Given the description of an element on the screen output the (x, y) to click on. 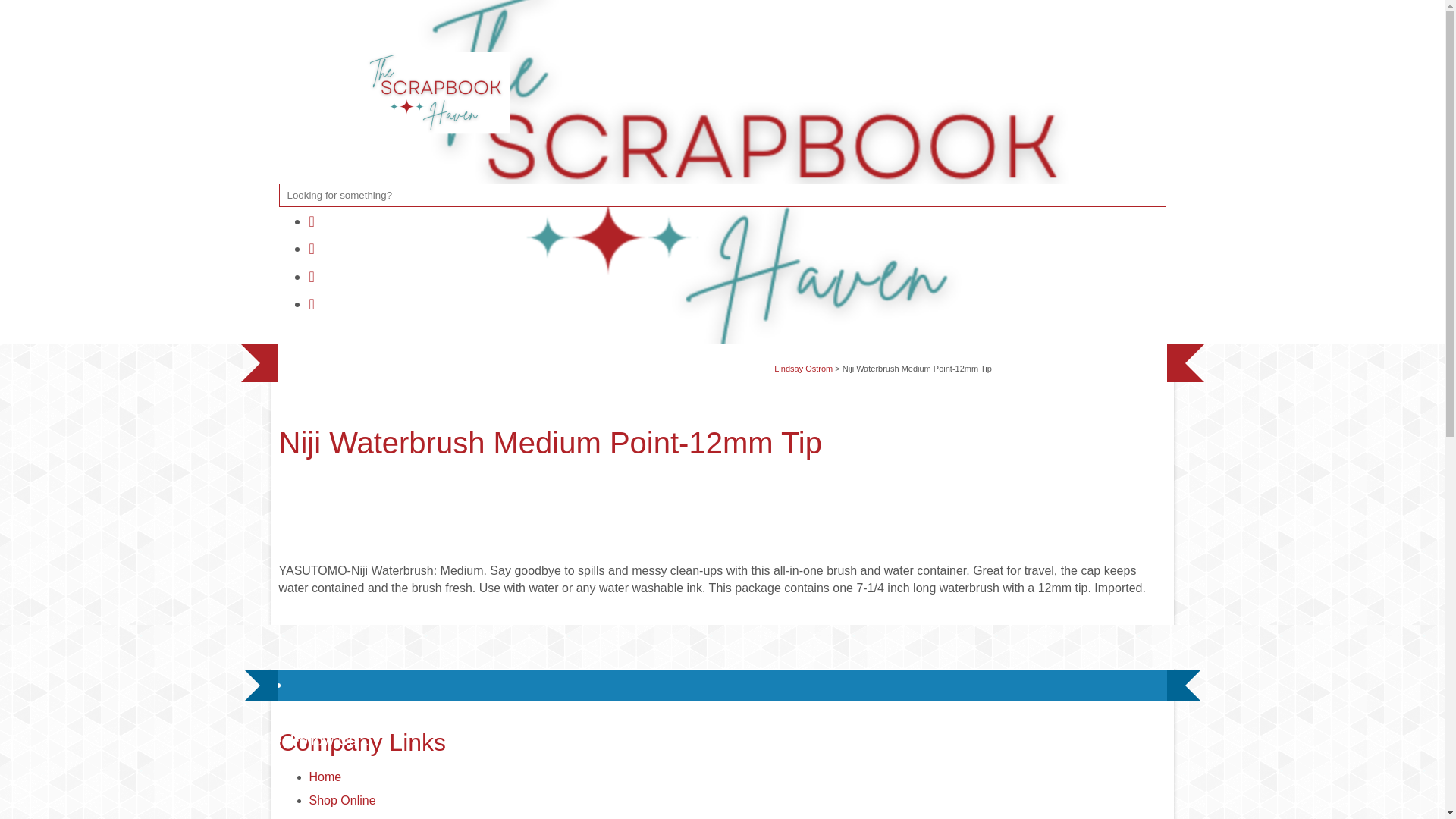
WHO ARE WE? (551, 358)
Shop Online (341, 799)
LOGIN (741, 358)
Lindsay Ostrom (803, 368)
HOME (310, 358)
Home (325, 776)
CONTACT (448, 358)
CALENDAR (660, 358)
Classes (330, 818)
SHOP (373, 358)
